Given the description of an element on the screen output the (x, y) to click on. 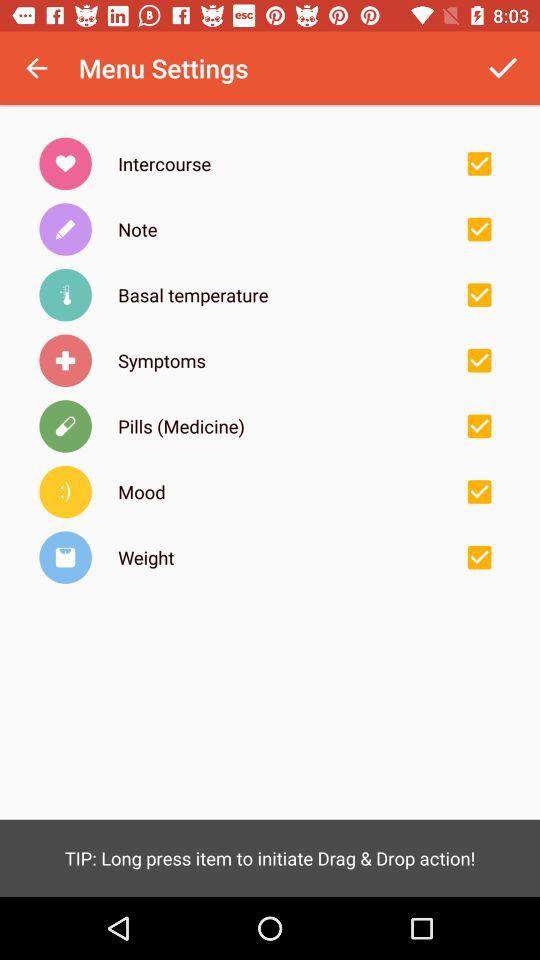
select note (479, 229)
